Given the description of an element on the screen output the (x, y) to click on. 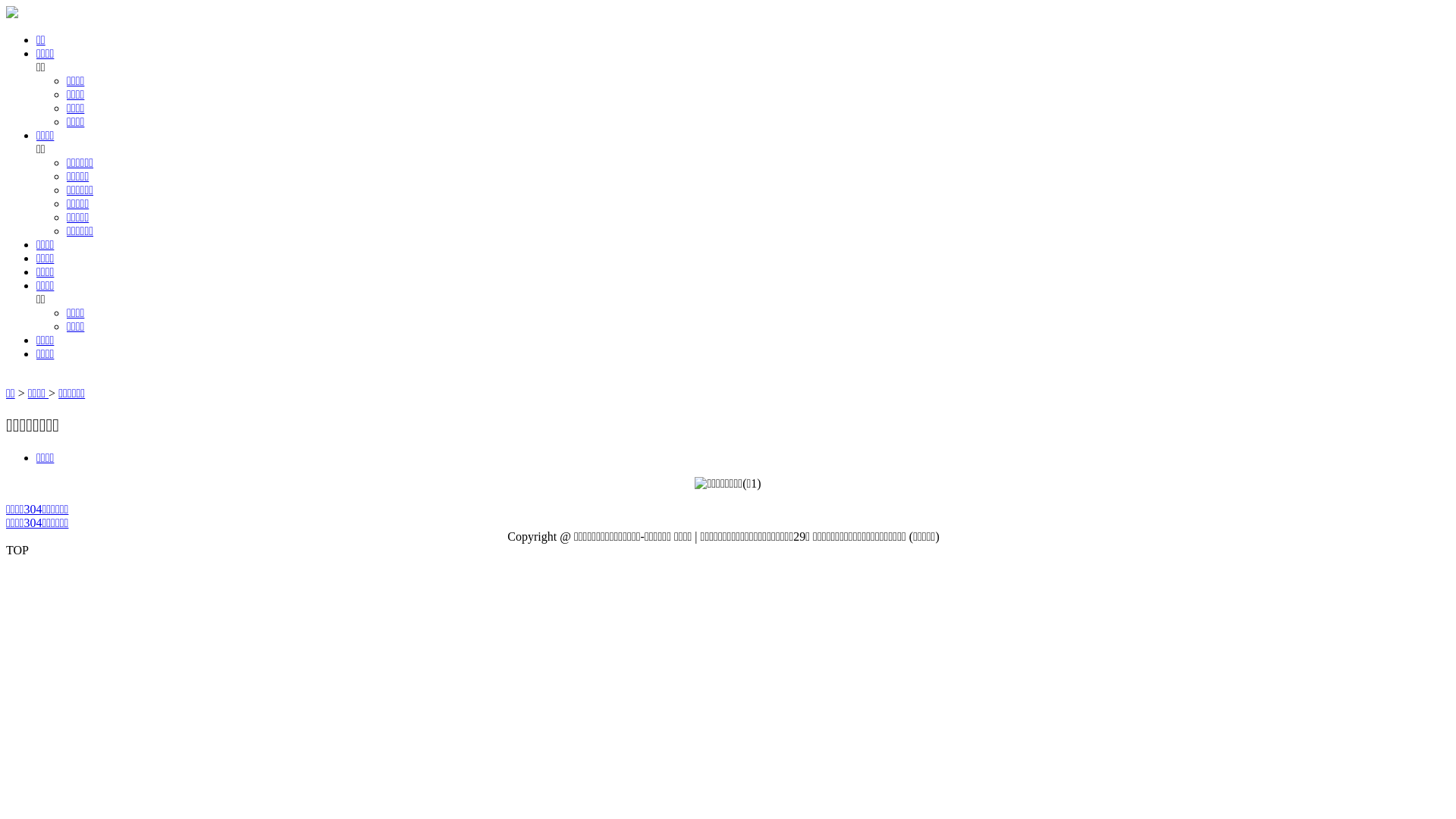
TOP Element type: text (727, 550)
